Given the description of an element on the screen output the (x, y) to click on. 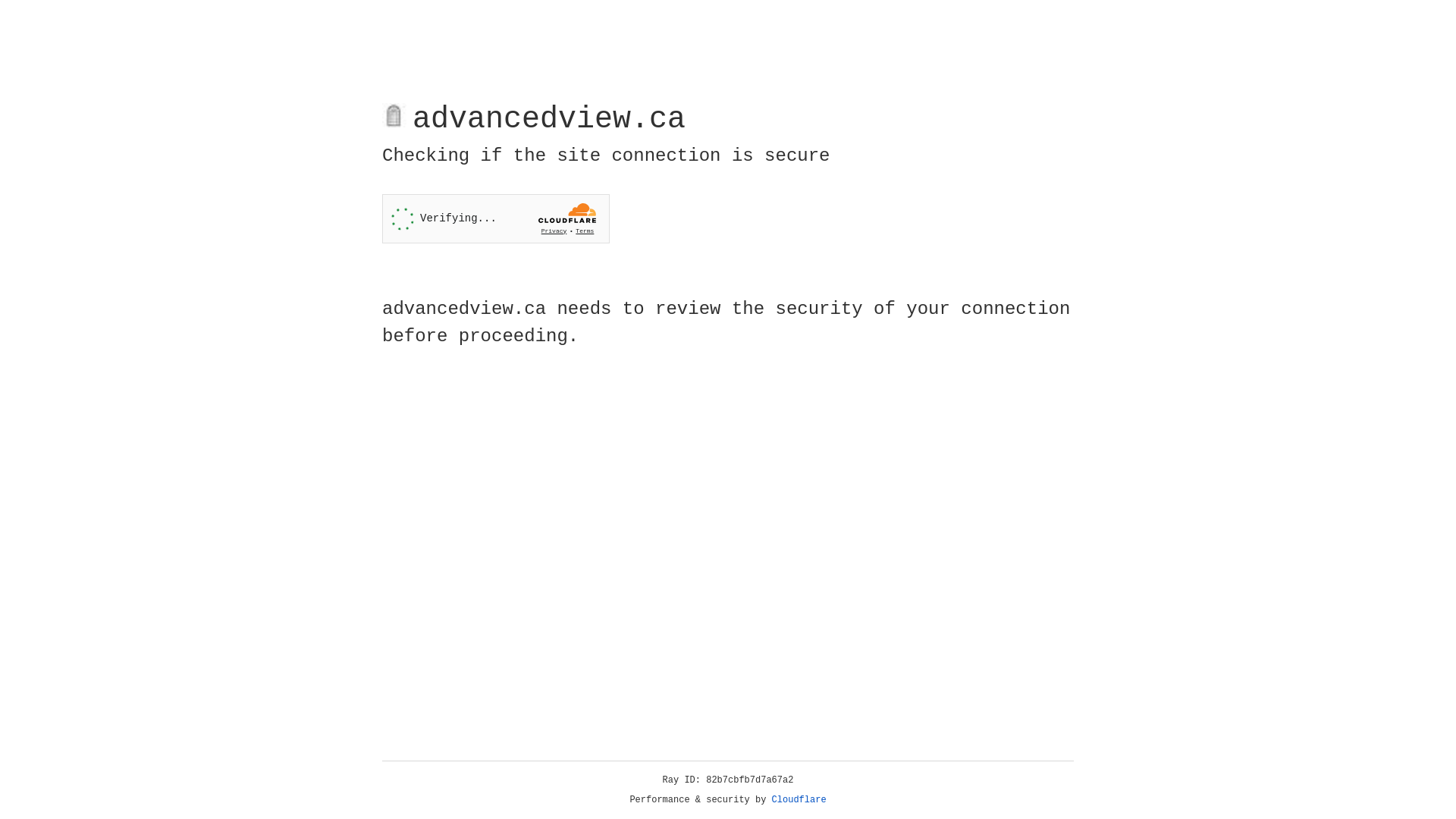
Cloudflare Element type: text (798, 799)
Widget containing a Cloudflare security challenge Element type: hover (495, 218)
